Given the description of an element on the screen output the (x, y) to click on. 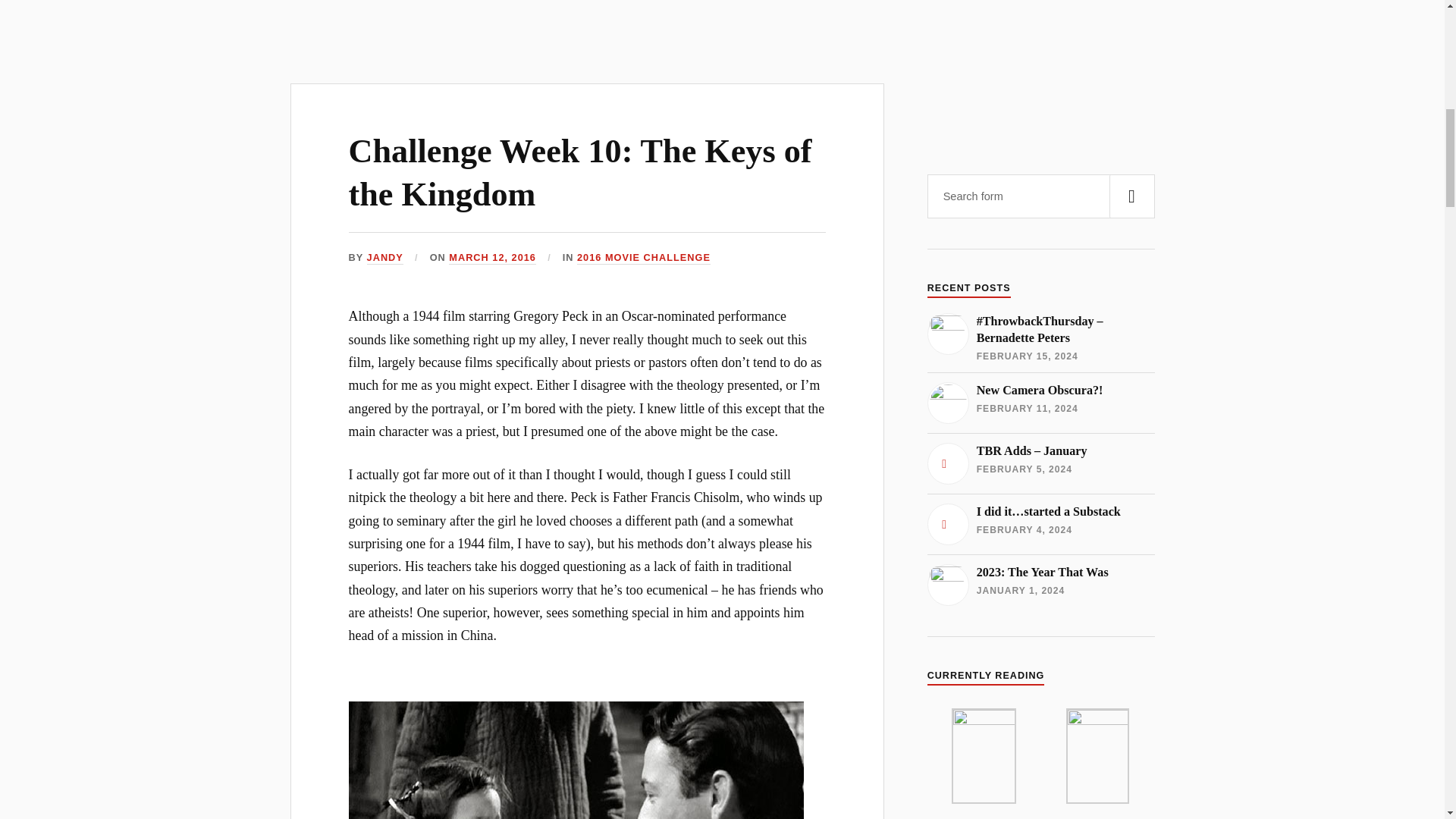
MARCH 12, 2016 (1040, 403)
Posts by Jandy (491, 257)
Challenge Week 10: The Keys of the Kingdom (384, 257)
JANDY (580, 172)
2016 MOVIE CHALLENGE (1040, 585)
